Given the description of an element on the screen output the (x, y) to click on. 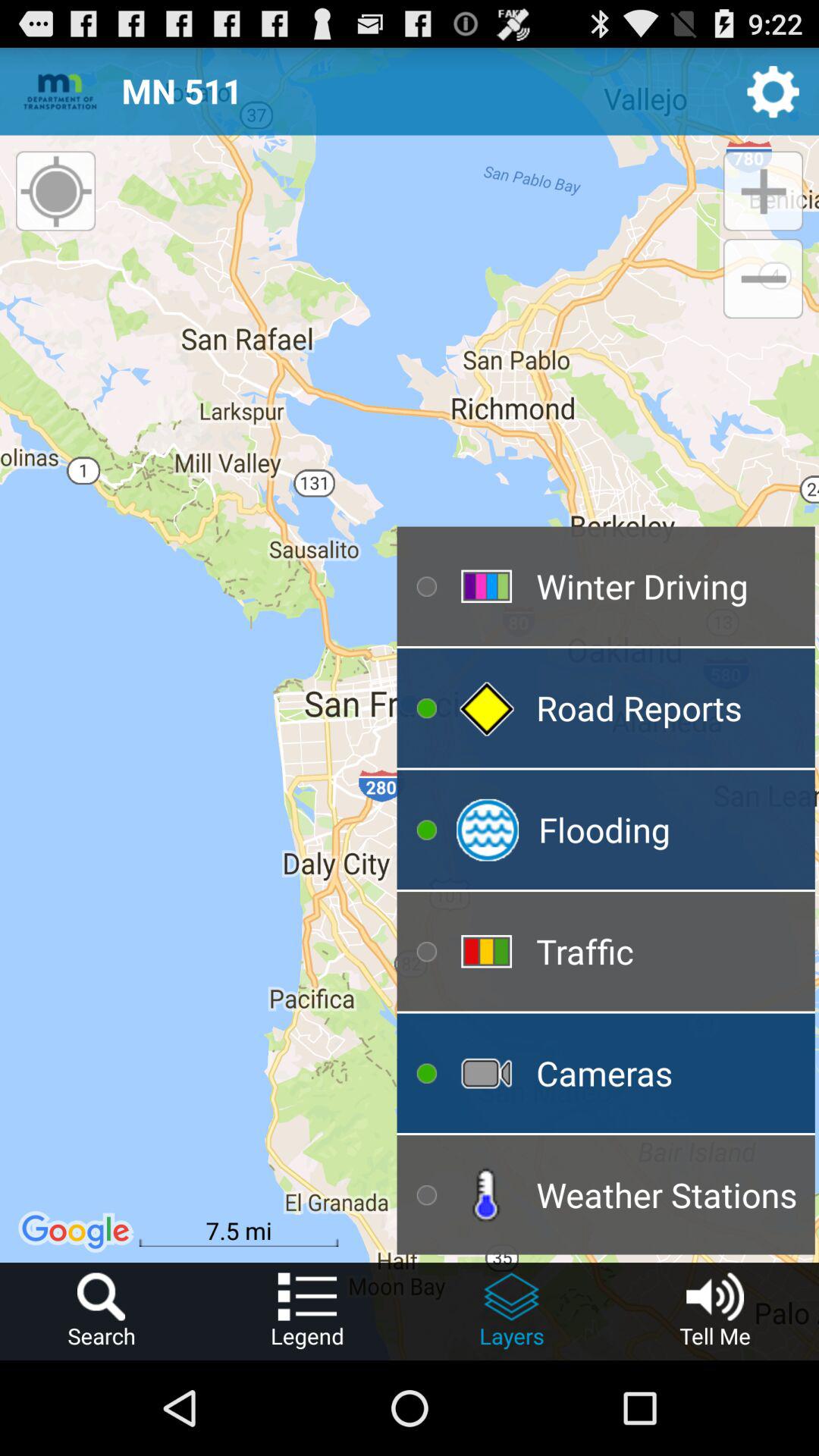
tap the item next to the mn 511 (773, 91)
